Given the description of an element on the screen output the (x, y) to click on. 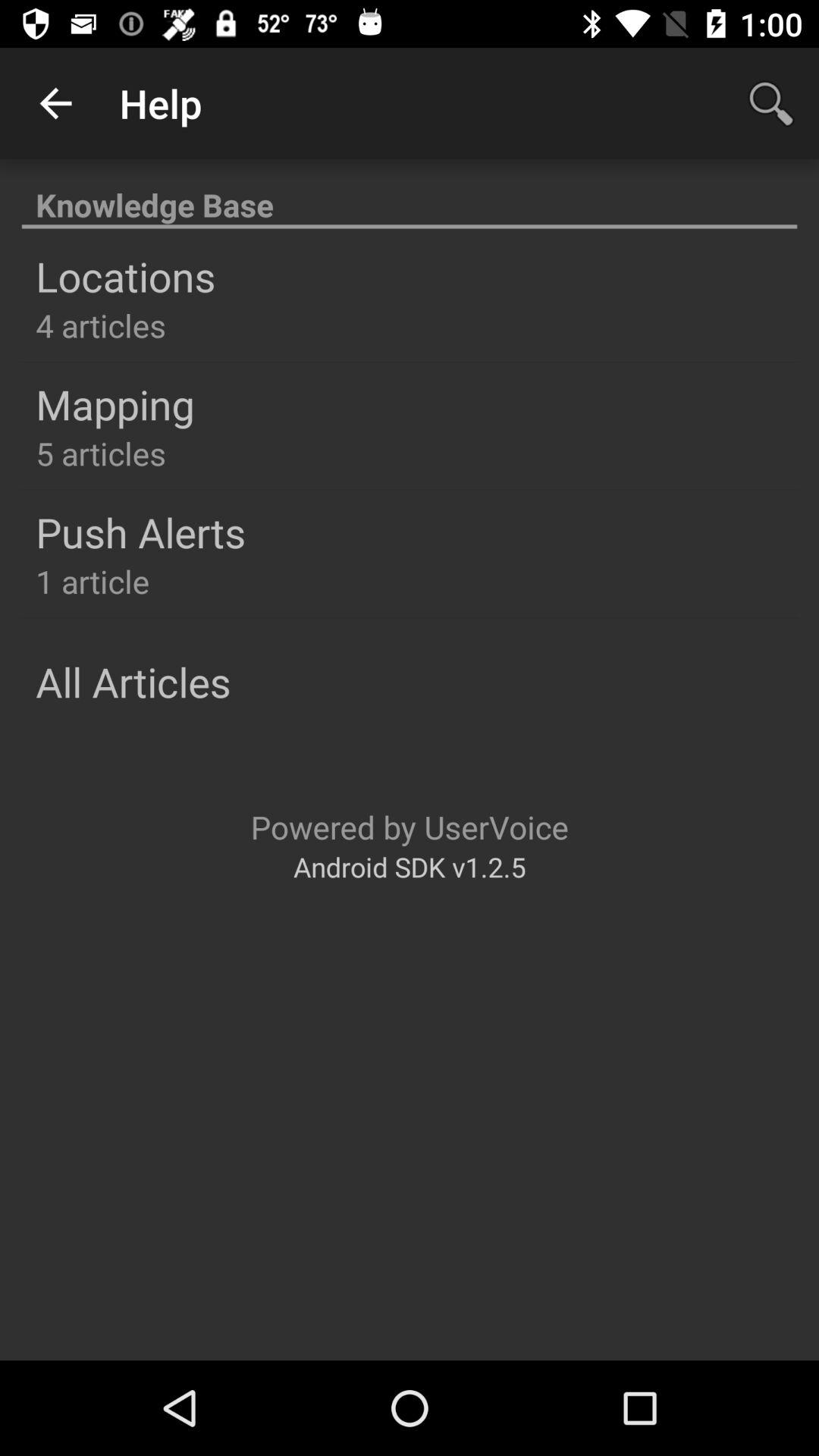
choose the icon above android sdk v1 (409, 826)
